Given the description of an element on the screen output the (x, y) to click on. 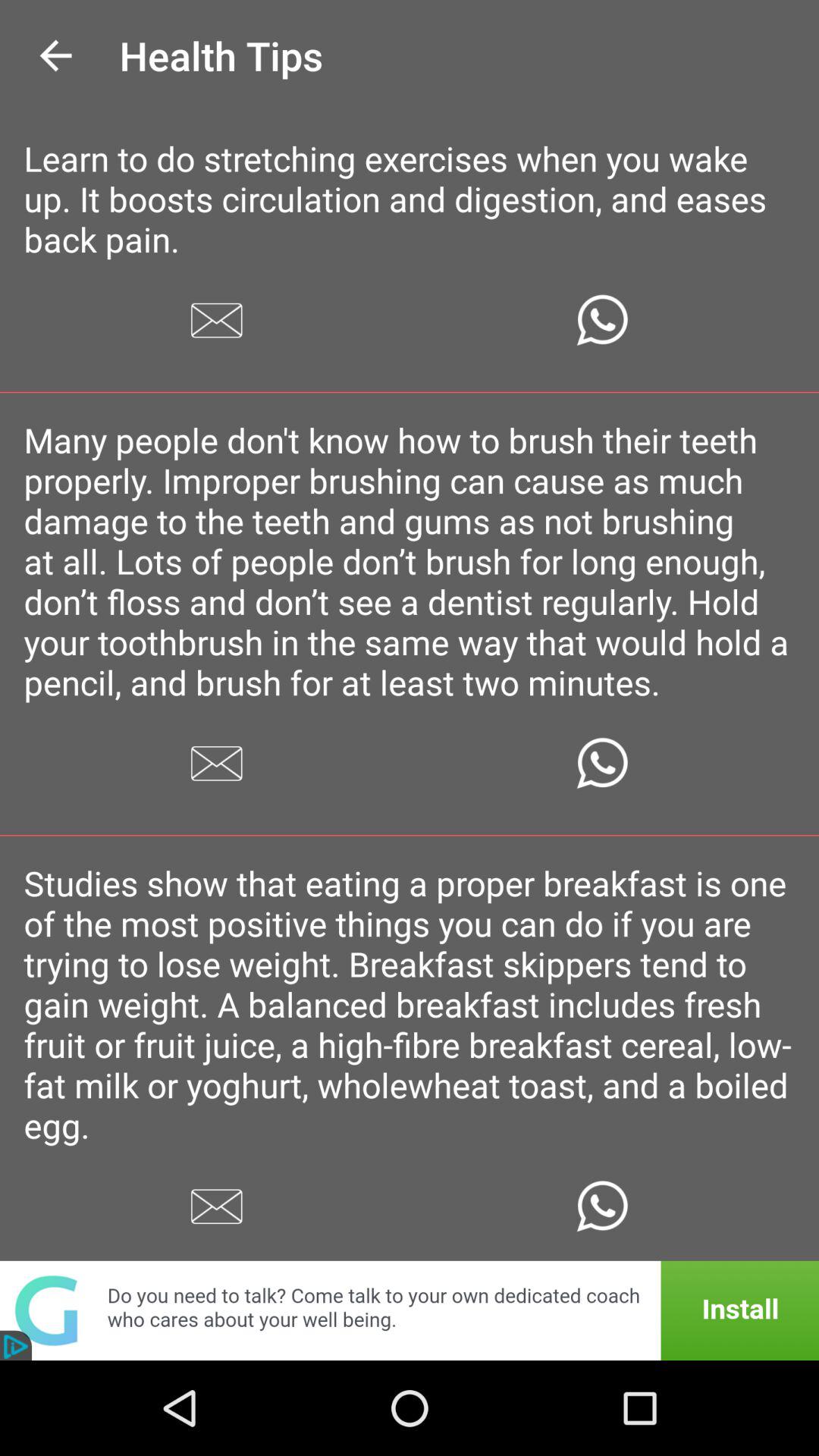
select the many people don at the center (409, 560)
